Given the description of an element on the screen output the (x, y) to click on. 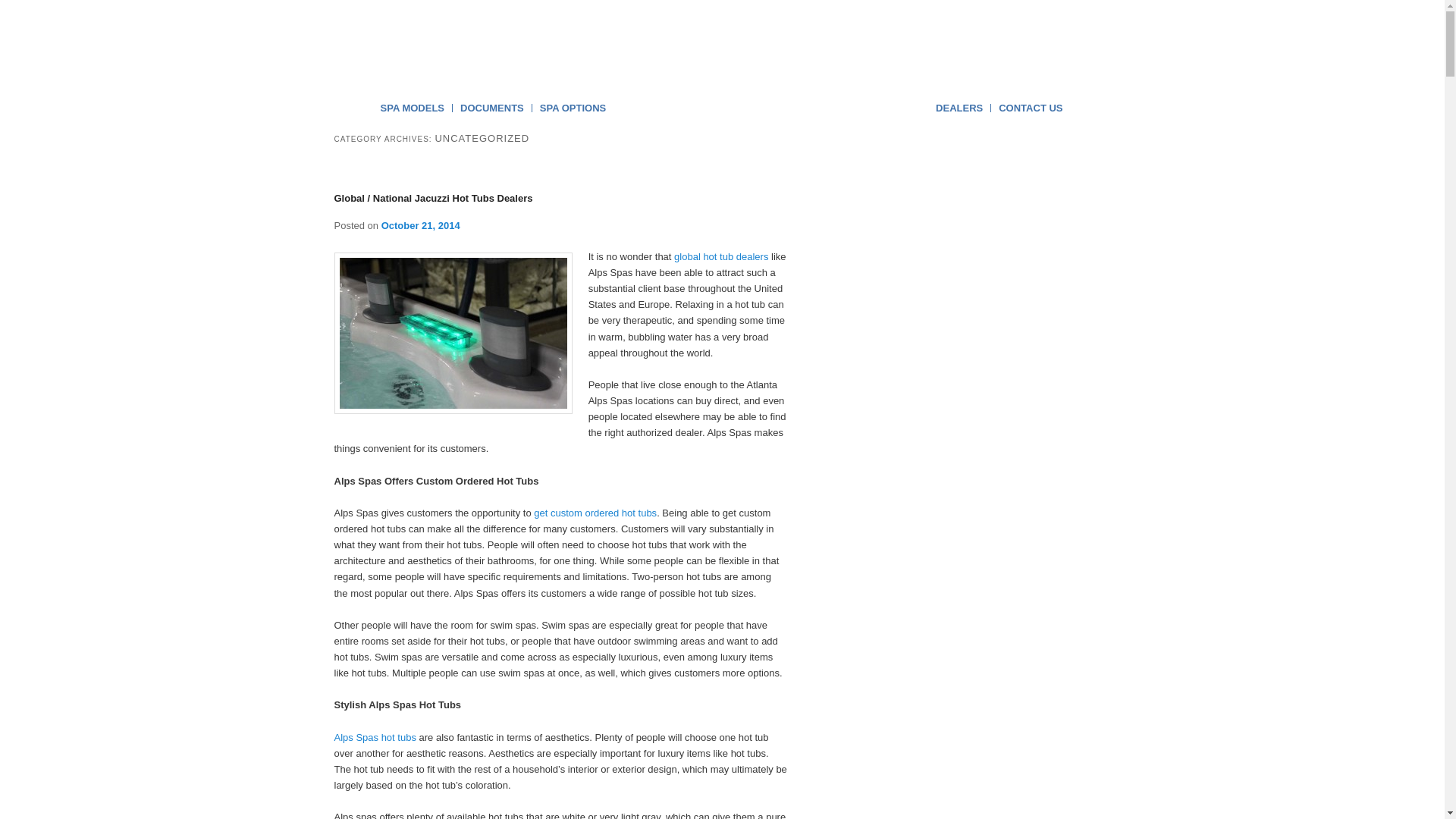
Alps Spas hot tubs (373, 737)
SPA MODELS (412, 107)
get custom ordered hot tubs (595, 512)
global hot tub dealers (721, 256)
get custom ordered hot tubs (595, 512)
DOCUMENTS (492, 107)
DEALERS (959, 107)
October 21, 2014 (420, 225)
Alps Spas hot tubs (373, 737)
SPA OPTIONS (572, 107)
global hot tub dealers (721, 256)
CONTACT US (1030, 107)
1:00 am (420, 225)
